Given the description of an element on the screen output the (x, y) to click on. 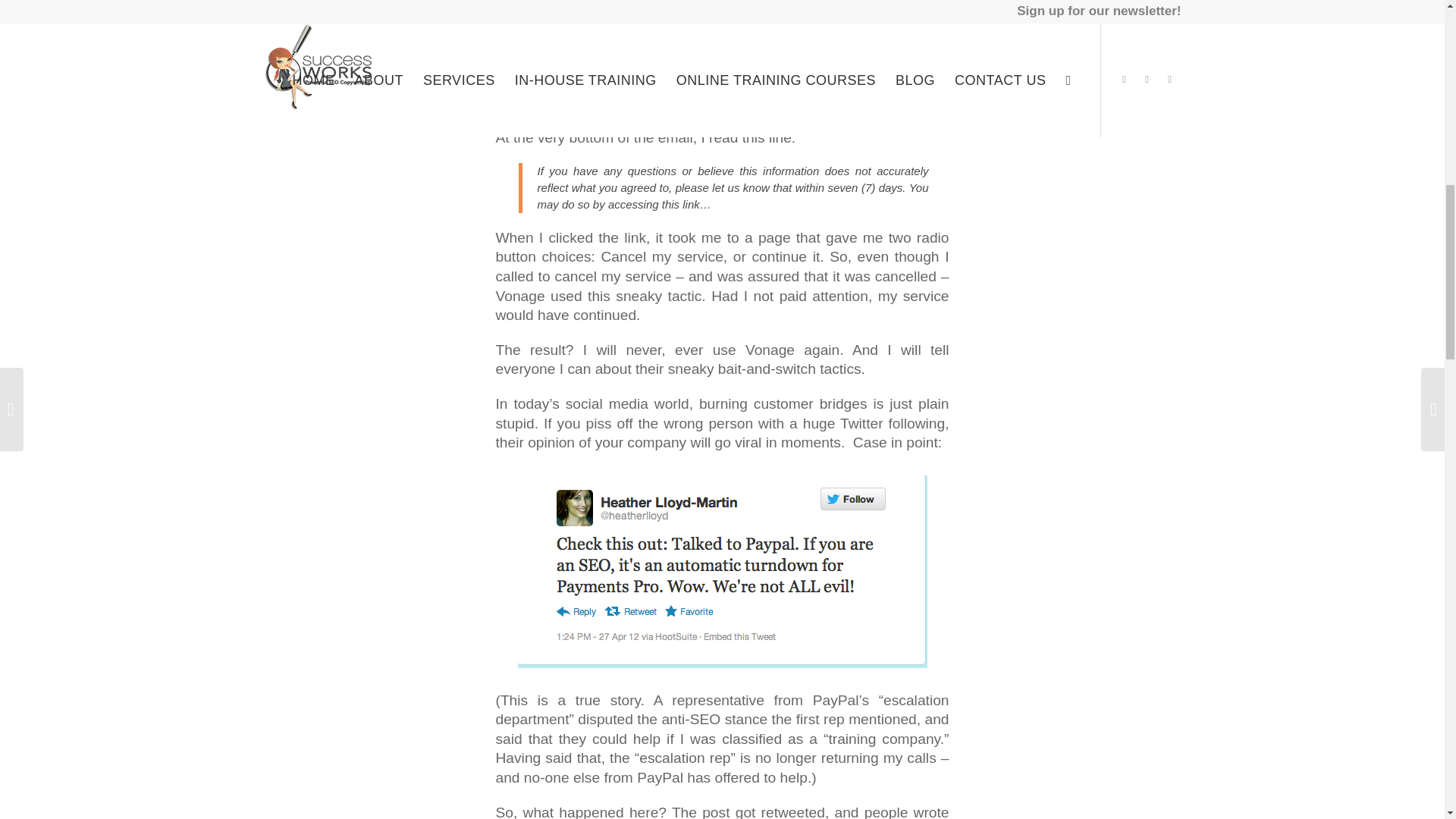
Screen Shot 2012-07-09 at 12.45.53 PM (721, 571)
